Given the description of an element on the screen output the (x, y) to click on. 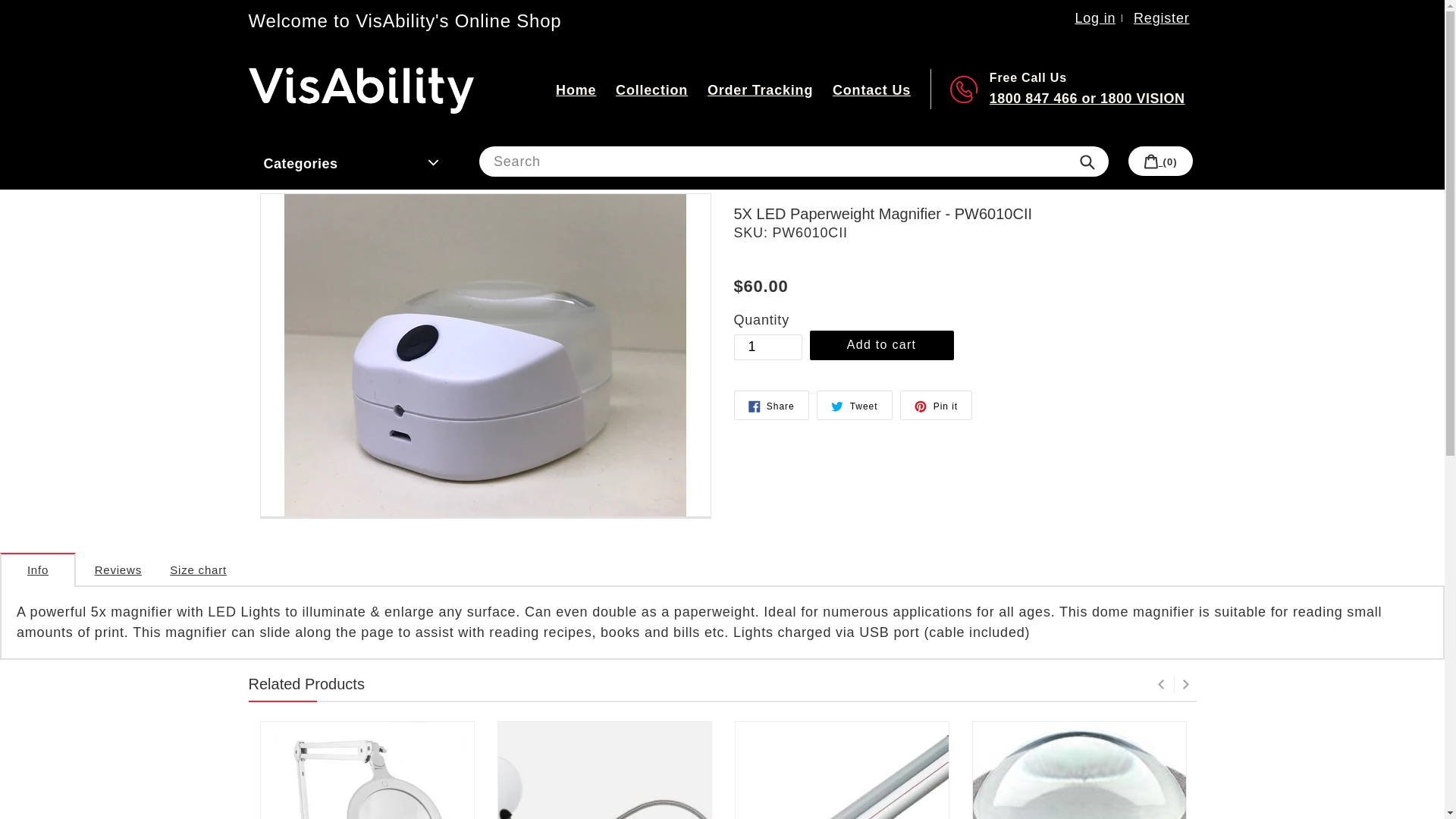
Order Tracking Element type: text (759, 90)
Tweet
Tweet on Twitter Element type: text (853, 405)
Home Element type: text (575, 90)
Log in Element type: text (1094, 17)
Submit Element type: text (1086, 161)
Add to cart Element type: text (881, 345)
Reviews Element type: text (118, 570)
Contact Us Element type: text (871, 90)
Size chart Element type: text (198, 570)
Info Element type: text (37, 569)
Register Element type: text (1160, 17)
Collection Element type: text (651, 90)
1800 847 466 or 1800 VISION Element type: text (1087, 98)
Share
Share on Facebook Element type: text (771, 405)
(0) Element type: text (1160, 160)
Pin it
Pin on Pinterest Element type: text (936, 405)
